Given the description of an element on the screen output the (x, y) to click on. 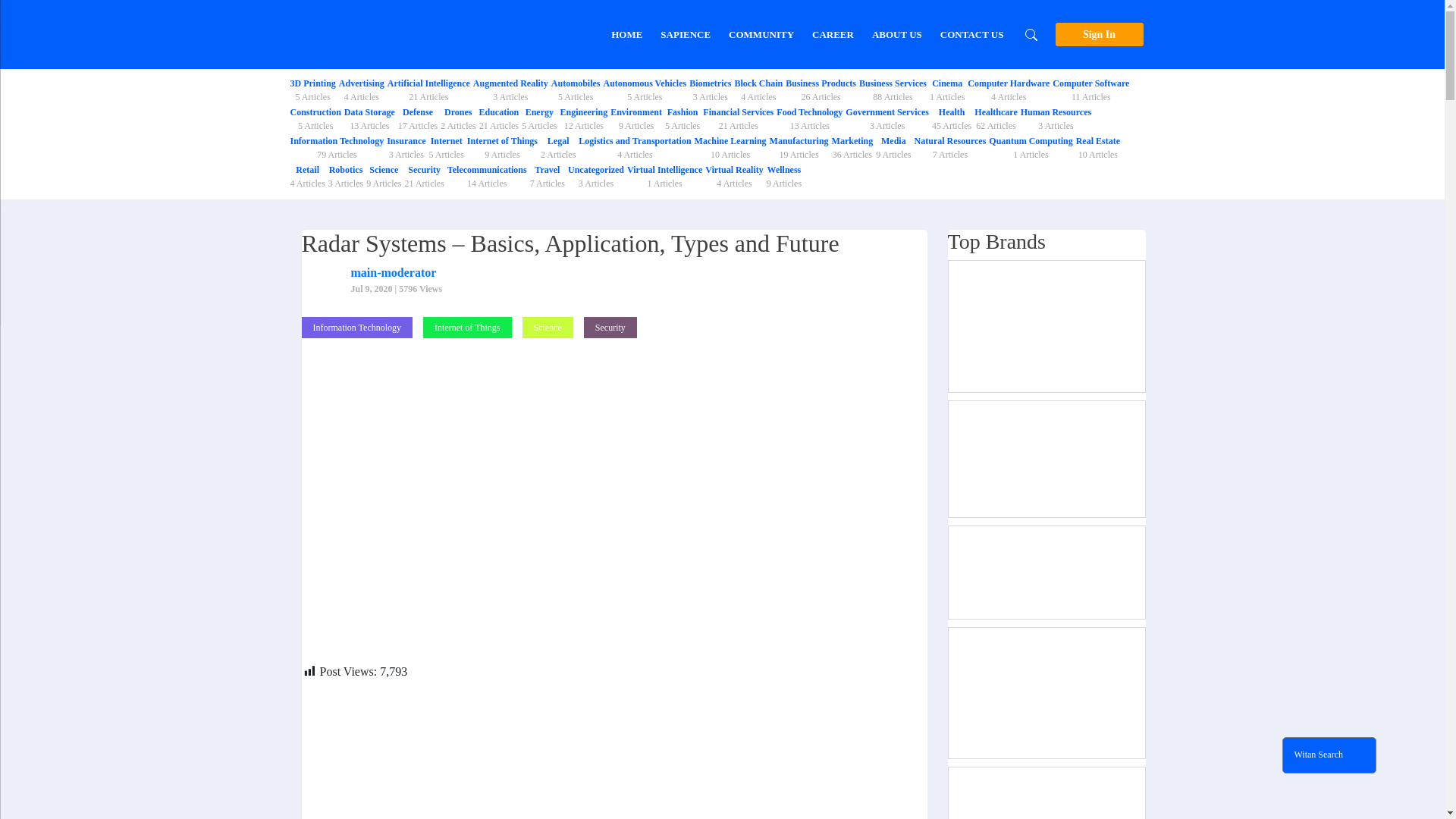
Twitter (387, 696)
Email this page (311, 89)
Facebook (758, 89)
ABOUT US (601, 738)
